Given the description of an element on the screen output the (x, y) to click on. 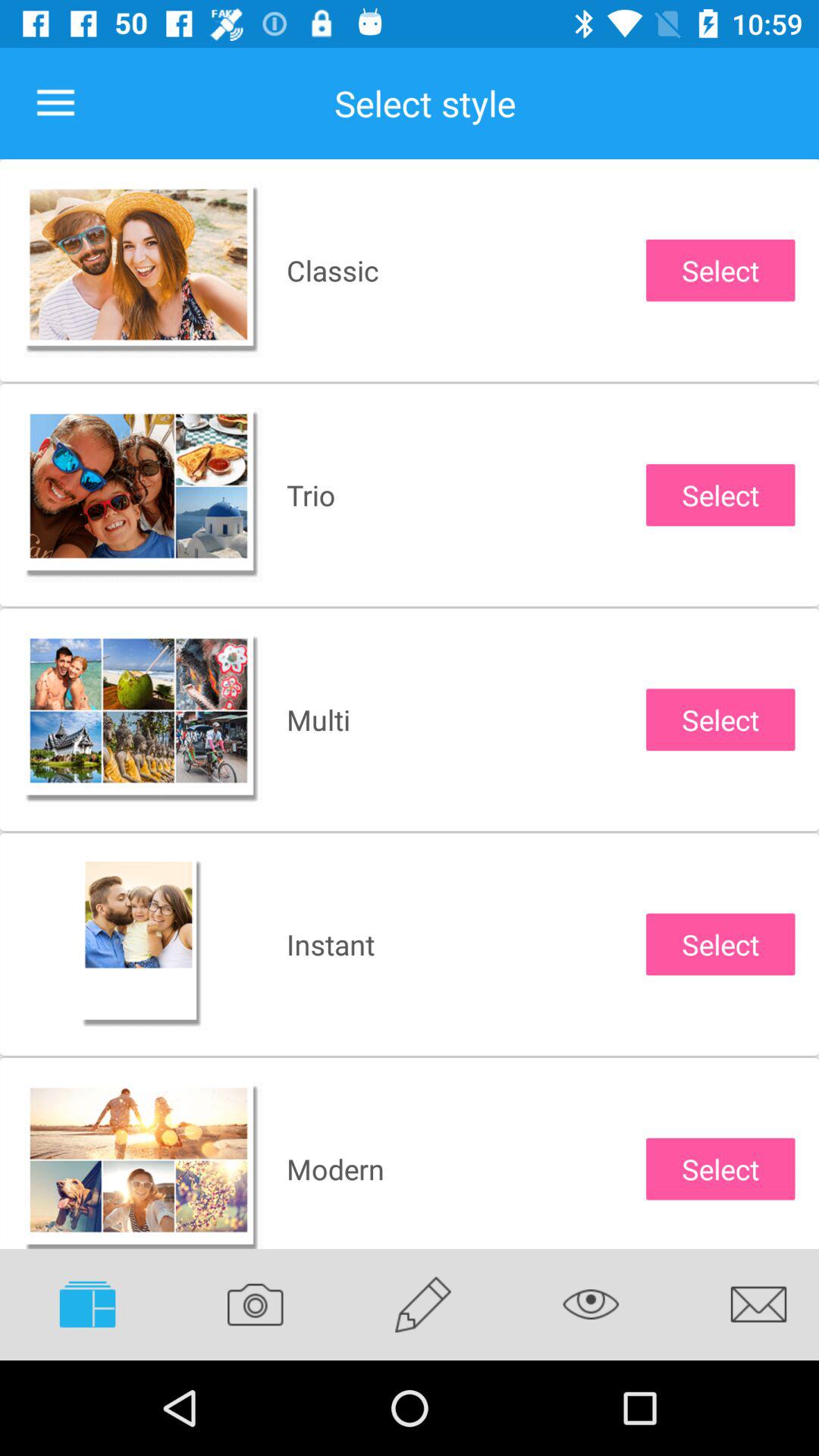
turn off the item below the select item (591, 1304)
